Given the description of an element on the screen output the (x, y) to click on. 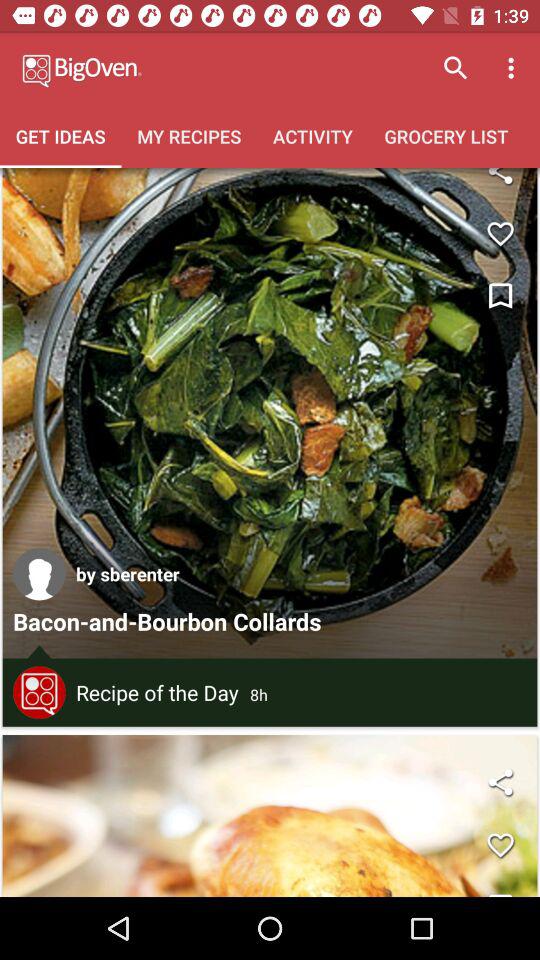
favorite it (500, 845)
